Given the description of an element on the screen output the (x, y) to click on. 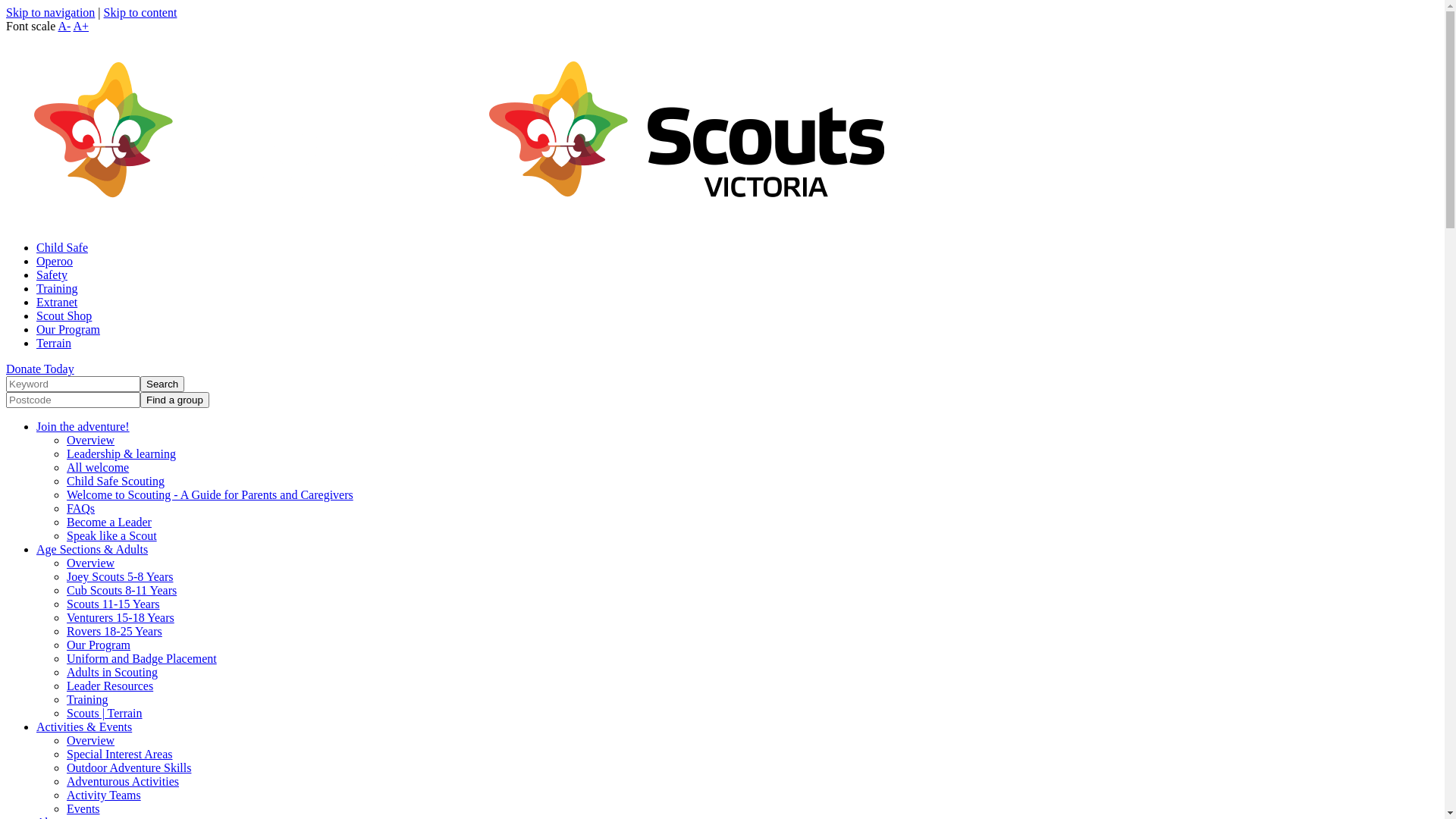
Age Sections & Adults Element type: text (91, 548)
Outdoor Adventure Skills Element type: text (128, 767)
Special Interest Areas Element type: text (119, 753)
Safety Element type: text (51, 274)
Donate Today Element type: text (40, 368)
Rovers 18-25 Years Element type: text (114, 630)
Leadership & learning Element type: text (120, 453)
Uniform and Badge Placement Element type: text (141, 658)
Skip to navigation Element type: text (50, 12)
Become a Leader Element type: text (108, 521)
FAQs Element type: text (80, 508)
Activity Teams Element type: text (103, 794)
Overview Element type: text (90, 562)
Our Program Element type: text (68, 329)
Joey Scouts 5-8 Years Element type: text (119, 576)
Venturers 15-18 Years Element type: text (120, 617)
Find a group Element type: text (174, 399)
Our Program Element type: text (98, 644)
Overview Element type: text (90, 740)
Child Safe Scouting Element type: text (115, 480)
Scouts | Terrain Element type: text (104, 712)
Join the adventure! Element type: text (82, 426)
Cub Scouts 8-11 Years Element type: text (121, 589)
Events Element type: text (83, 808)
Activities & Events Element type: text (83, 726)
Training Element type: text (57, 288)
Home Element type: hover (687, 221)
Search Element type: text (162, 384)
Extranet Element type: text (56, 301)
Skip to content Element type: text (140, 12)
Leader Resources Element type: text (109, 685)
Home Element type: hover (232, 221)
Scouts 11-15 Years Element type: text (113, 603)
Adventurous Activities Element type: text (122, 781)
Adults in Scouting Element type: text (111, 671)
Speak like a Scout Element type: text (111, 535)
A+ Element type: text (80, 25)
Welcome to Scouting - A Guide for Parents and Caregivers Element type: text (209, 494)
Child Safe Element type: text (61, 247)
Terrain Element type: text (53, 342)
Operoo Element type: text (54, 260)
Training Element type: text (87, 699)
Scout Shop Element type: text (63, 315)
A- Element type: text (63, 25)
Overview Element type: text (90, 439)
All welcome Element type: text (97, 467)
